Given the description of an element on the screen output the (x, y) to click on. 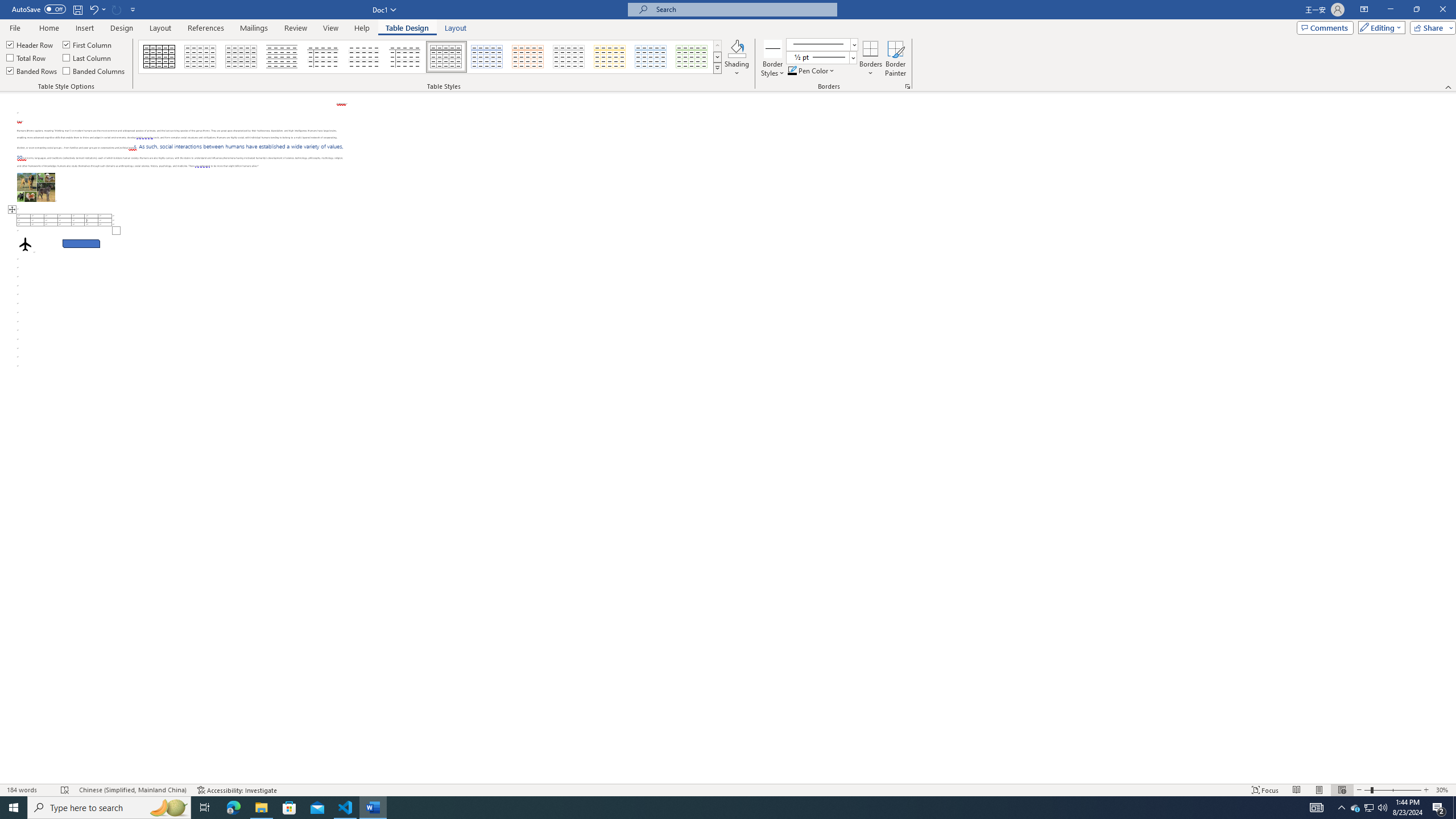
Class: MsoCommandBar (728, 45)
Class: NetUIScrollBar (1450, 437)
Header Row (30, 44)
Grid Table 1 Light - Accent 5 (650, 56)
First Column (88, 44)
